Given the description of an element on the screen output the (x, y) to click on. 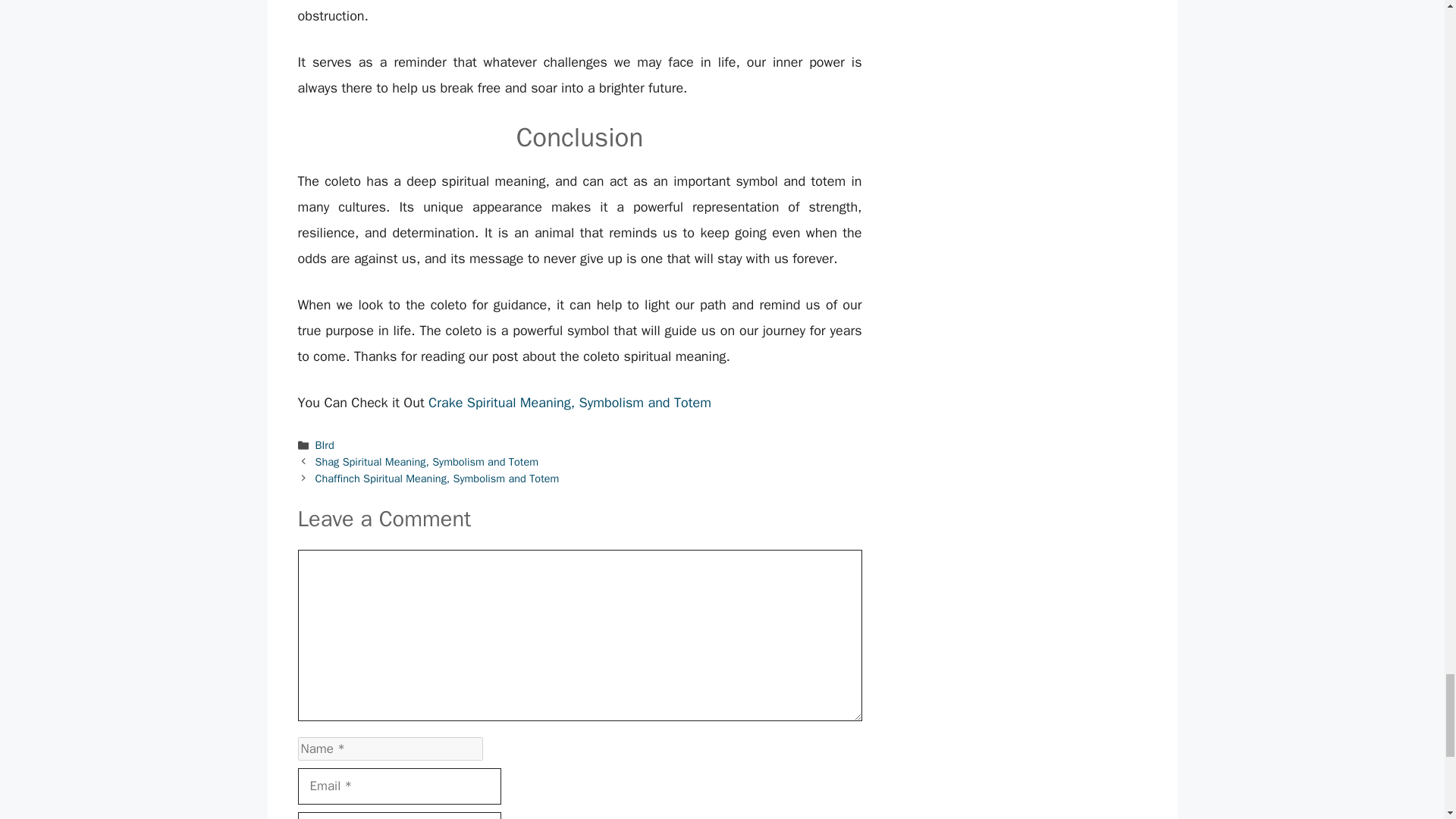
BIrd (324, 445)
Chaffinch Spiritual Meaning, Symbolism and Totem (437, 478)
Shag Spiritual Meaning, Symbolism and Totem (426, 461)
Crake Spiritual Meaning, Symbolism and Totem (569, 402)
